Given the description of an element on the screen output the (x, y) to click on. 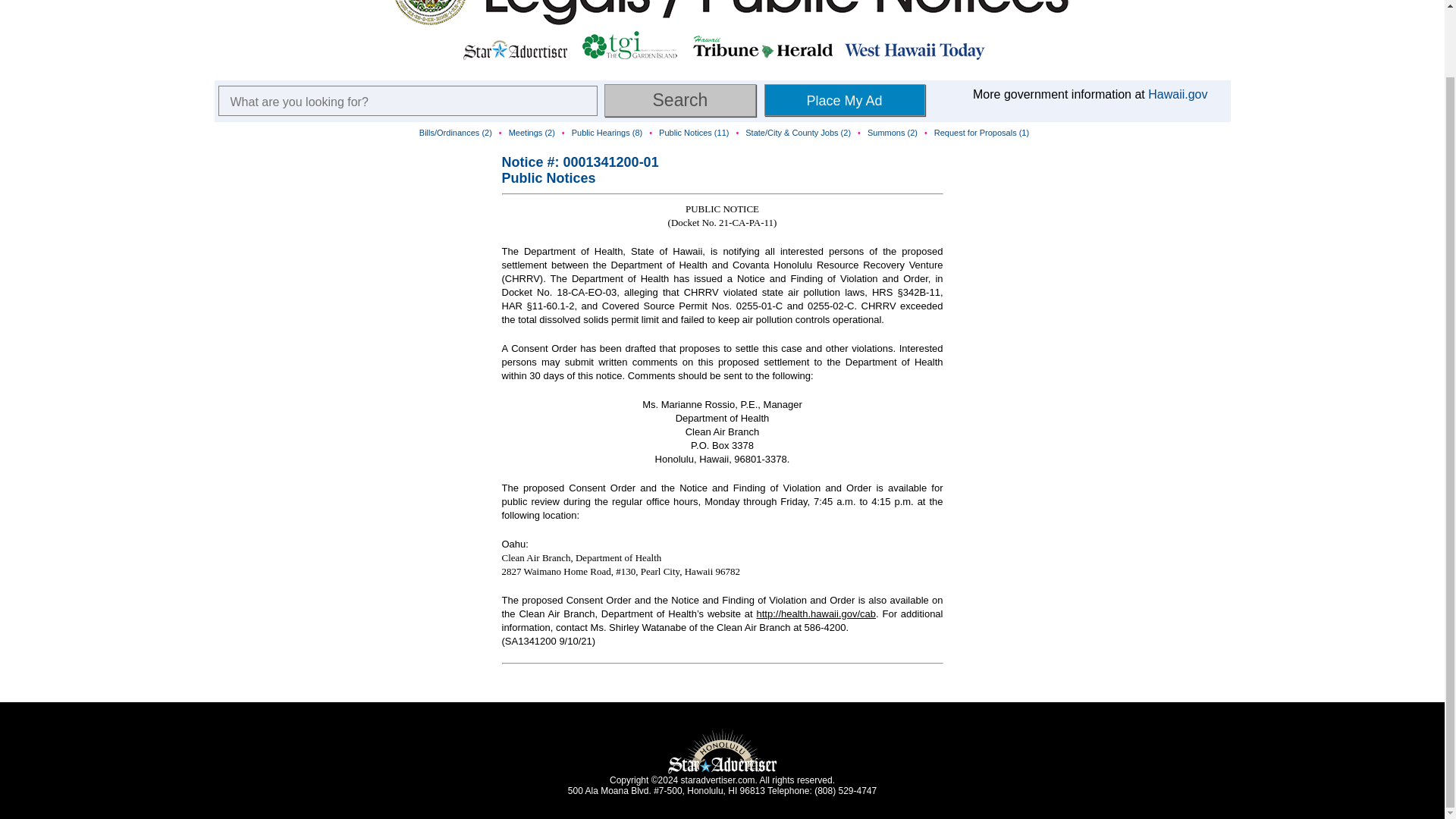
Hawaii.gov (1177, 93)
Public Notices (548, 177)
Search for: (407, 100)
Search (679, 100)
Search (679, 100)
Place My Ad (844, 100)
